Given the description of an element on the screen output the (x, y) to click on. 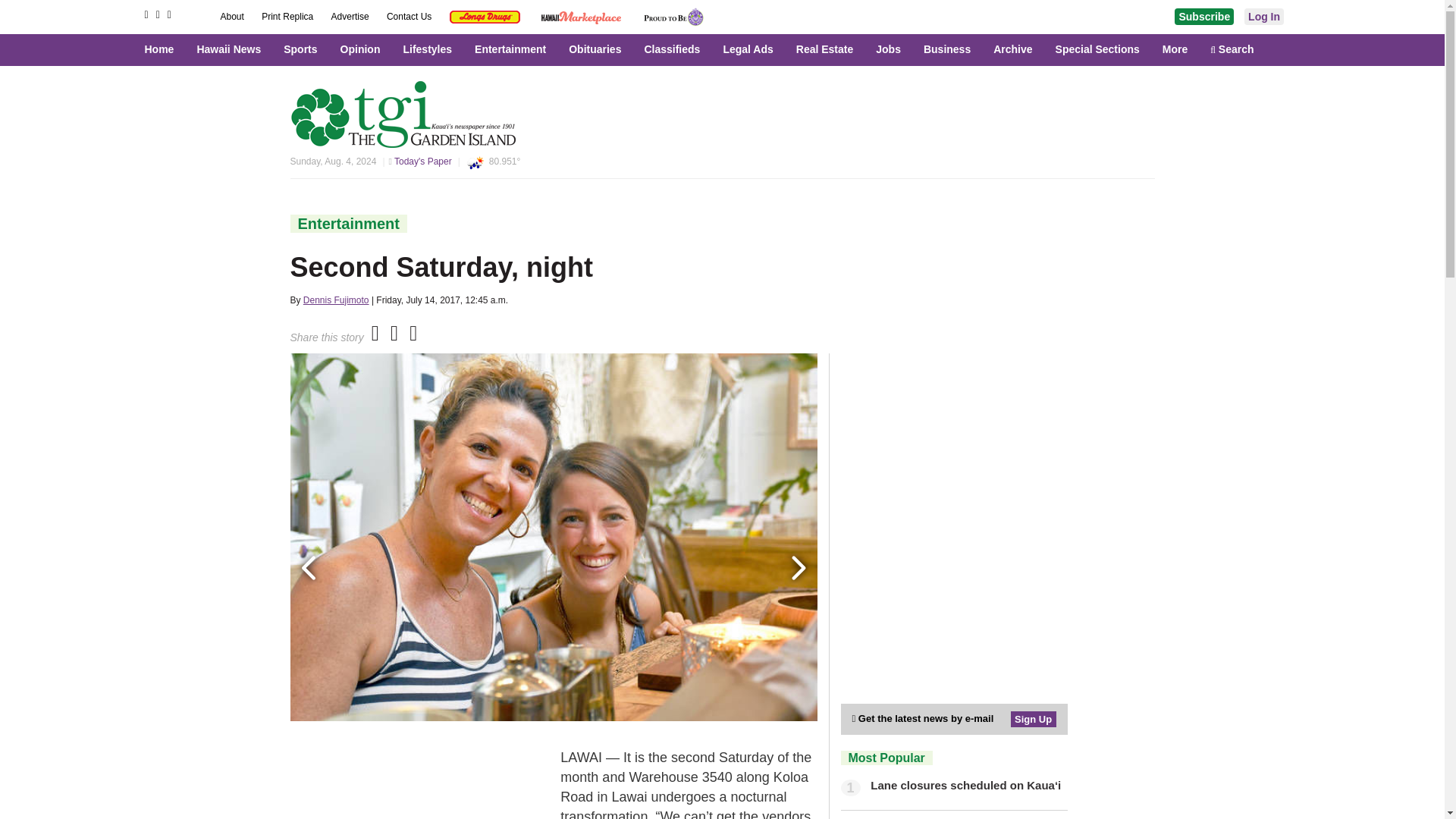
Home (166, 49)
Advertise (351, 16)
Entertainment (513, 49)
Subscribe (1203, 16)
Log In (1264, 16)
Lifestyles (430, 49)
Print Replica (288, 16)
Opinion (364, 49)
Home (166, 49)
Hawaii News (232, 49)
Sports (303, 49)
Sports (303, 49)
Contact Us (410, 16)
Opinion (364, 49)
Lifestyles (430, 49)
